Given the description of an element on the screen output the (x, y) to click on. 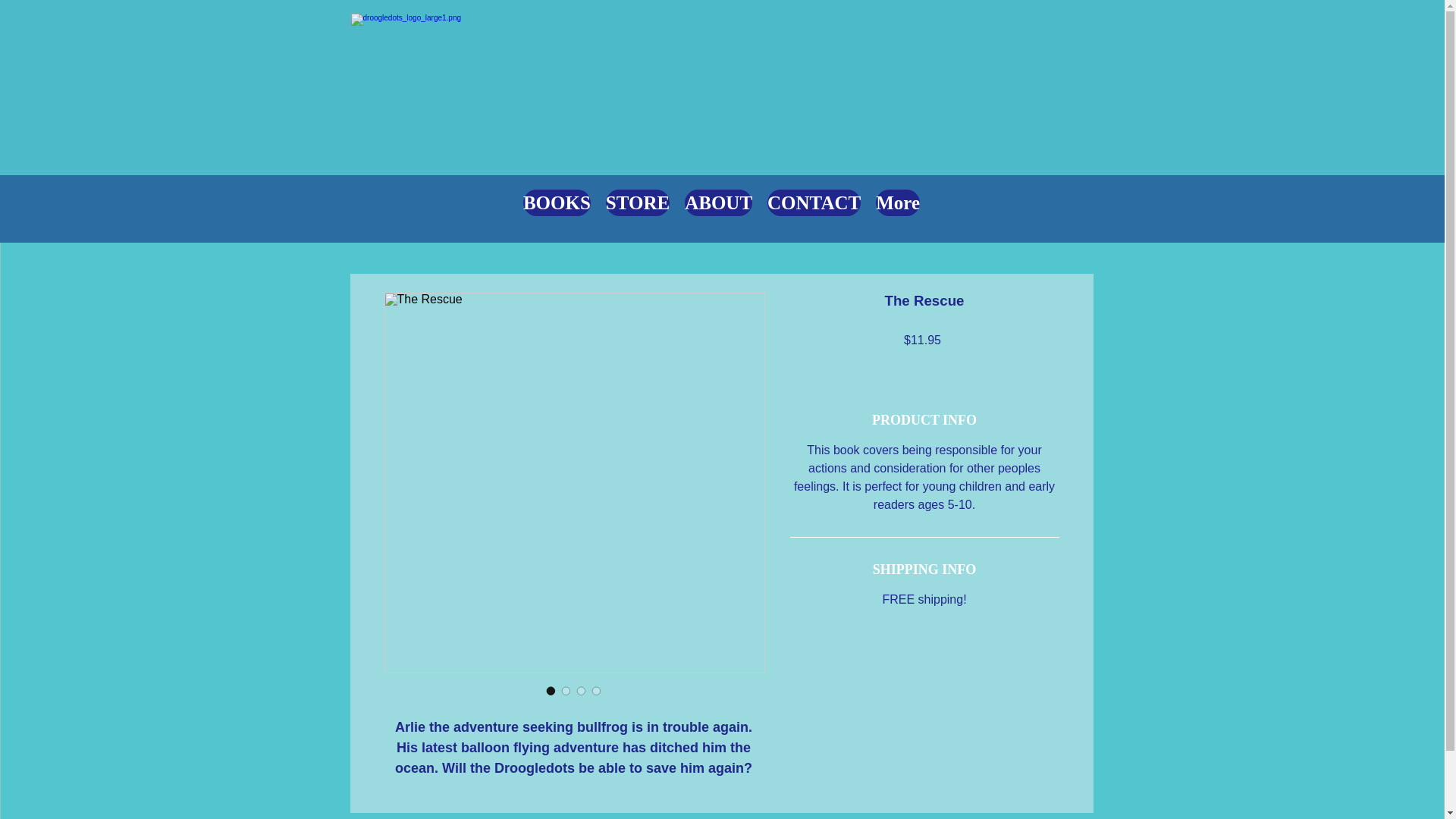
CONTACT (813, 207)
STORE (637, 207)
BOOKS (556, 207)
ABOUT (718, 207)
